Given the description of an element on the screen output the (x, y) to click on. 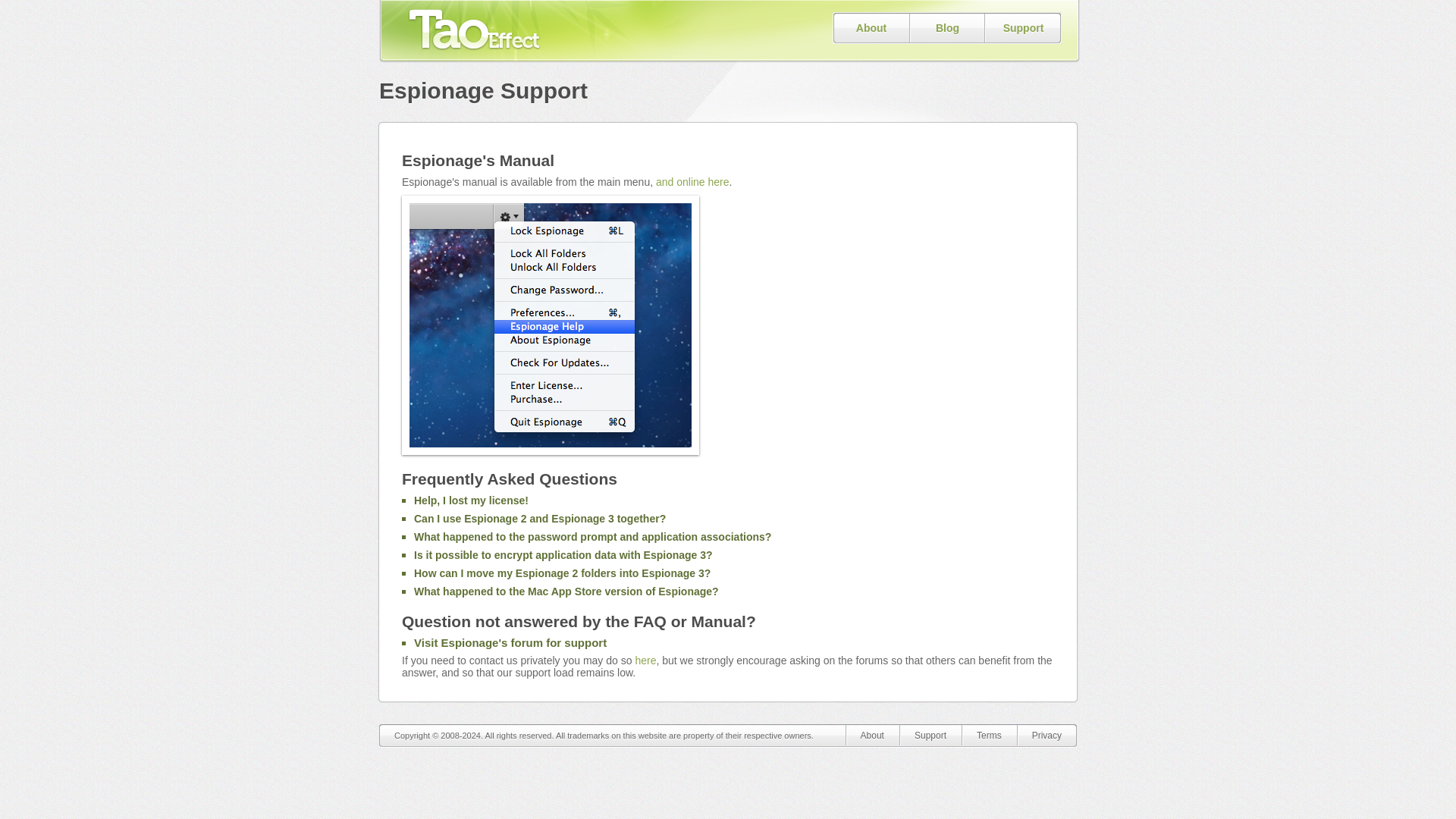
Is it possible to encrypt application data with Espionage 3? (563, 554)
About (872, 734)
Help, I lost my license! (470, 499)
Visit Espionage's forum for support (510, 642)
Terms (988, 734)
Support (929, 734)
About (871, 28)
and online here (692, 182)
Privacy (1046, 734)
Can I use Espionage 2 and Espionage 3 together? (539, 517)
Support (1023, 28)
Blog (947, 28)
What happened to the Mac App Store version of Espionage? (566, 590)
here (645, 660)
